Given the description of an element on the screen output the (x, y) to click on. 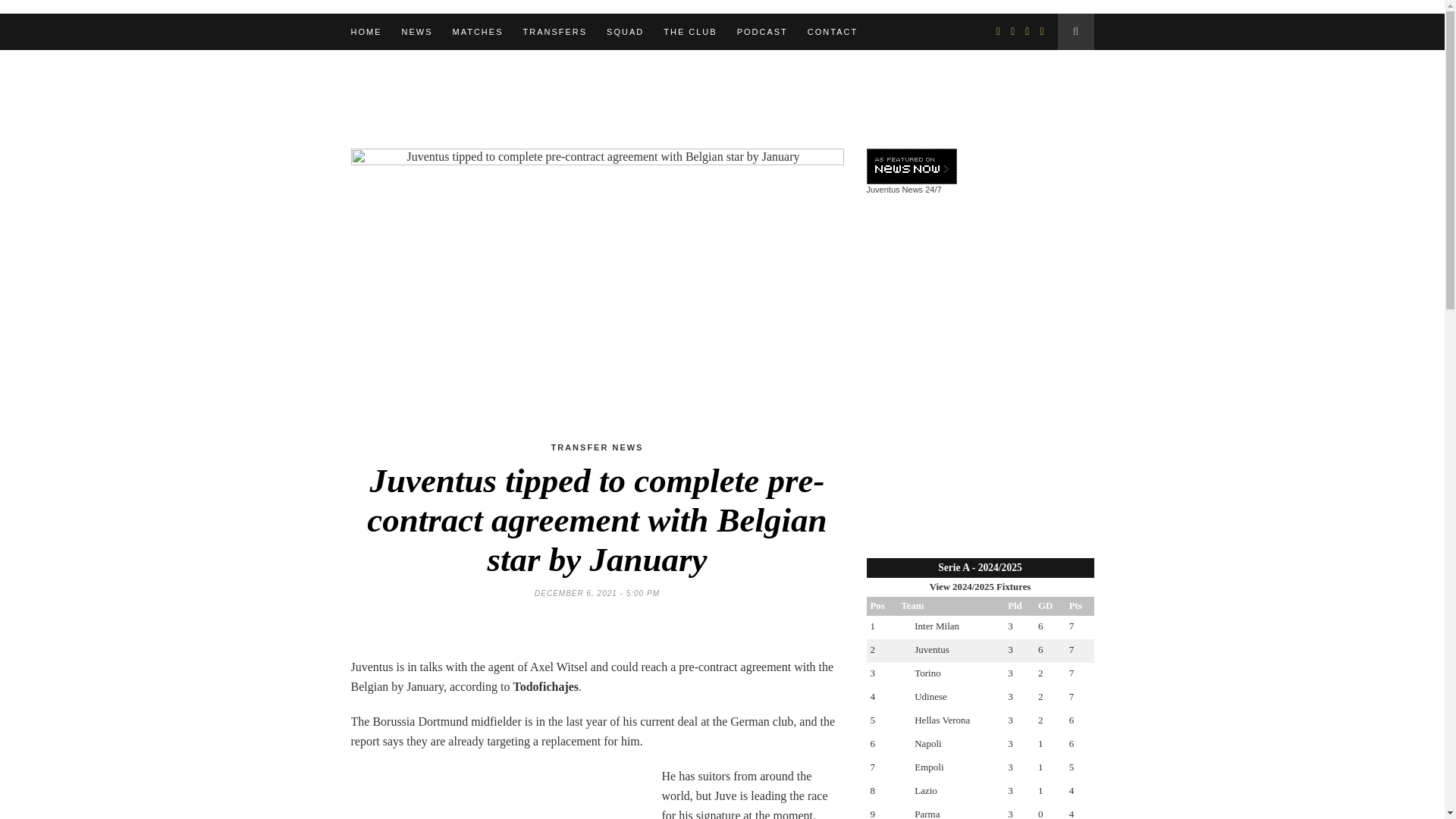
SQUAD (625, 31)
The Club (689, 31)
Contact (832, 31)
THE CLUB (689, 31)
CONTACT (832, 31)
Matches (476, 31)
PODCAST (761, 31)
TRANSFERS (554, 31)
Squad (625, 31)
MATCHES (476, 31)
